Given the description of an element on the screen output the (x, y) to click on. 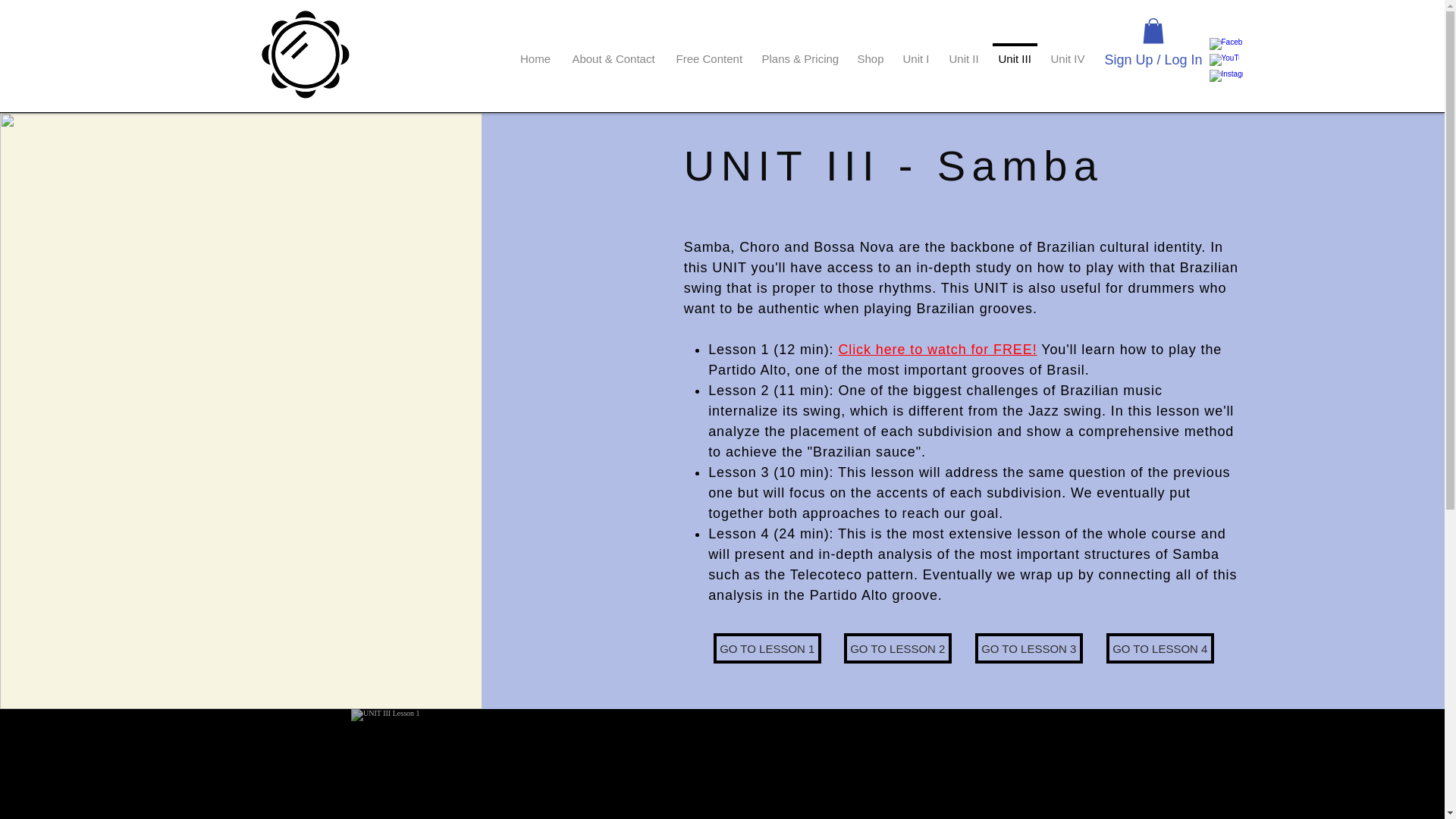
GO TO LESSON 4 (1160, 648)
Click here to watch for FREE! (937, 349)
Home (534, 51)
GO TO LESSON 1 (767, 648)
Shop (870, 51)
GO TO LESSON 3 (1029, 648)
Unit IV (1067, 51)
Unit III (1014, 51)
Unit I (916, 51)
GO TO LESSON 2 (898, 648)
